Given the description of an element on the screen output the (x, y) to click on. 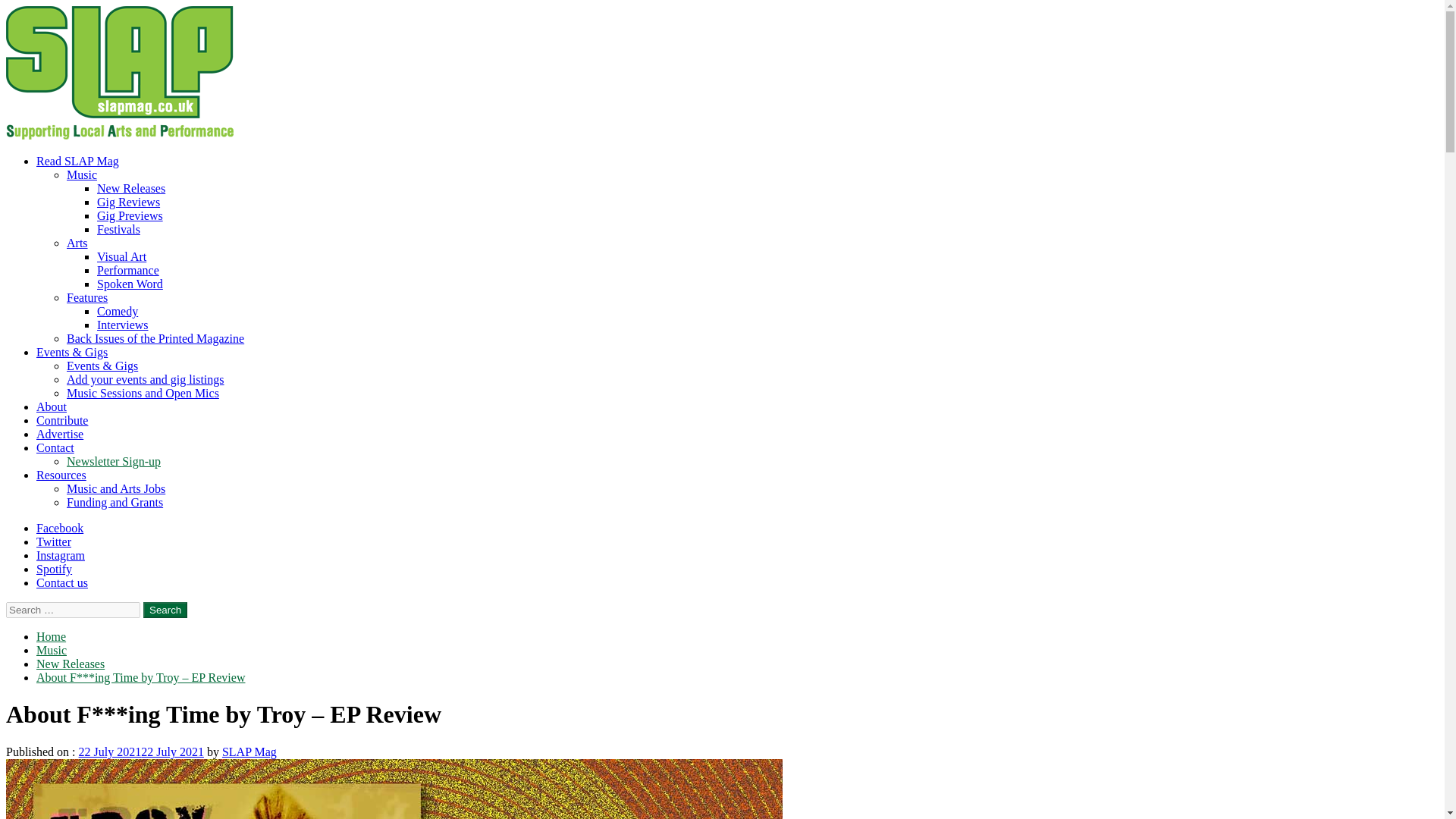
Home (50, 635)
Search (164, 609)
Spoken Word (130, 283)
Gig Reviews (128, 201)
Spotify (53, 568)
New Releases (131, 187)
Arts (76, 242)
Contribute (61, 420)
Music and Arts Jobs (115, 488)
Music (81, 174)
Advertise (59, 433)
Features (86, 297)
About (51, 406)
Visual Art (122, 256)
Comedy (117, 310)
